Given the description of an element on the screen output the (x, y) to click on. 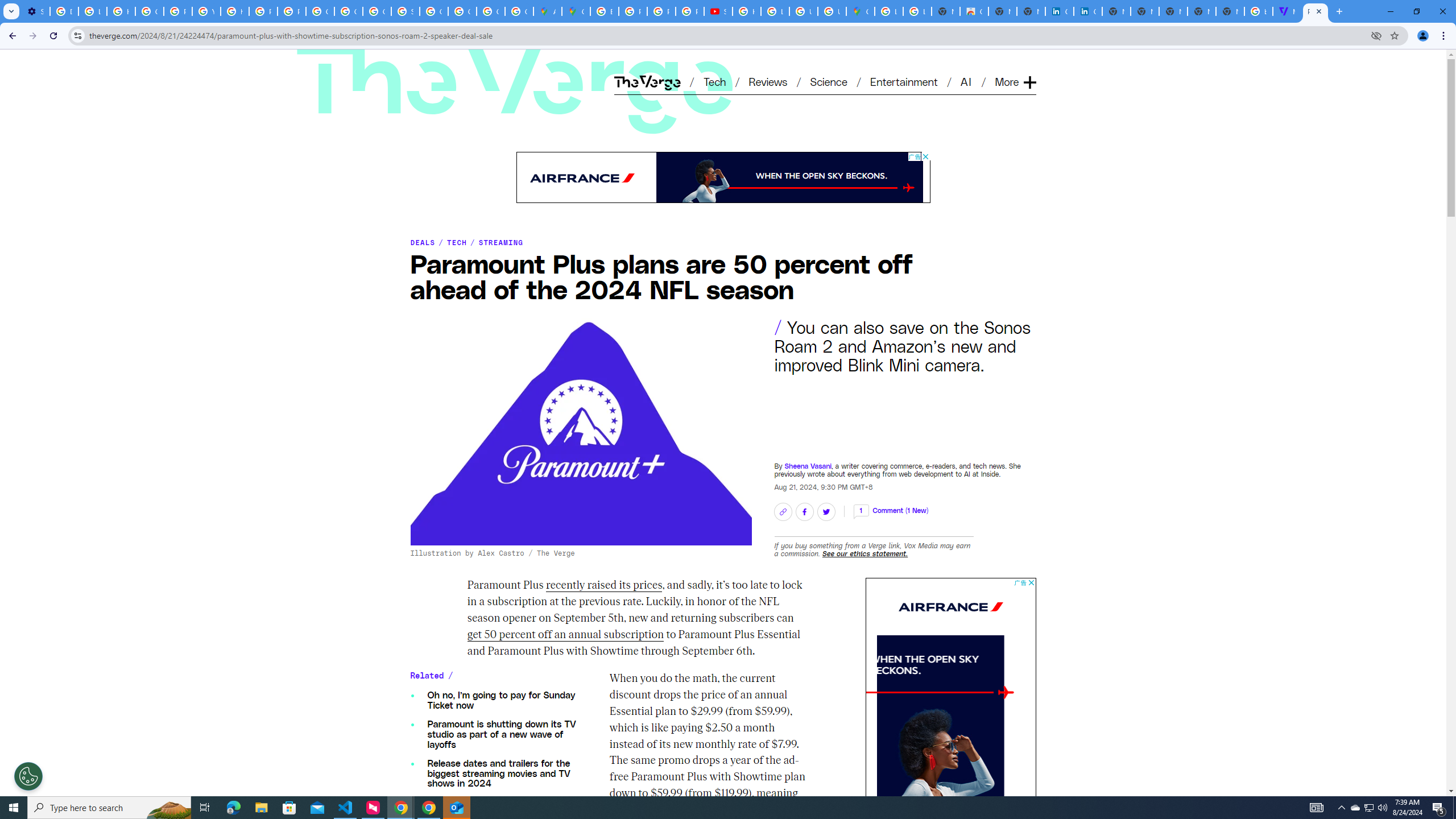
get 50 percent off an annual subscription (565, 634)
The Verge logo. Click to visit the homepage (450, 63)
The Verge (450, 63)
Entertainment (904, 81)
Chrome Web Store (973, 11)
Privacy Help Center - Policies Help (632, 11)
Menu Expand (1016, 63)
Blogger Policies and Guidelines - Transparency Center (604, 11)
New Tab (1230, 11)
